Given the description of an element on the screen output the (x, y) to click on. 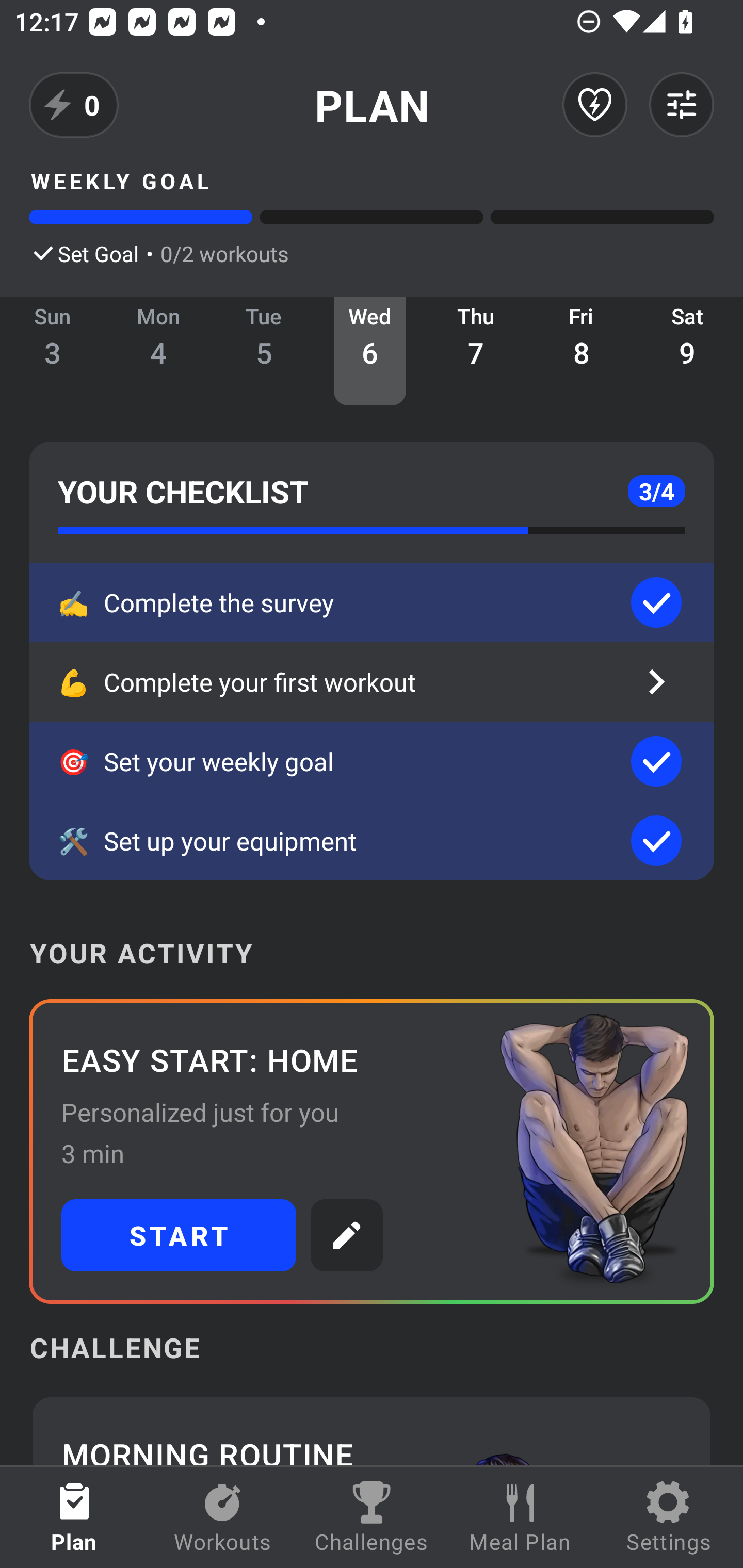
0 (73, 104)
Sun 3 (52, 351)
Mon 4 (158, 351)
Tue 5 (264, 351)
Wed 6 (369, 351)
Thu 7 (475, 351)
Fri 8 (581, 351)
Sat 9 (687, 351)
💪 Complete your first workout (371, 681)
START (178, 1235)
 Workouts  (222, 1517)
 Challenges  (371, 1517)
 Meal Plan  (519, 1517)
 Settings  (668, 1517)
